Given the description of an element on the screen output the (x, y) to click on. 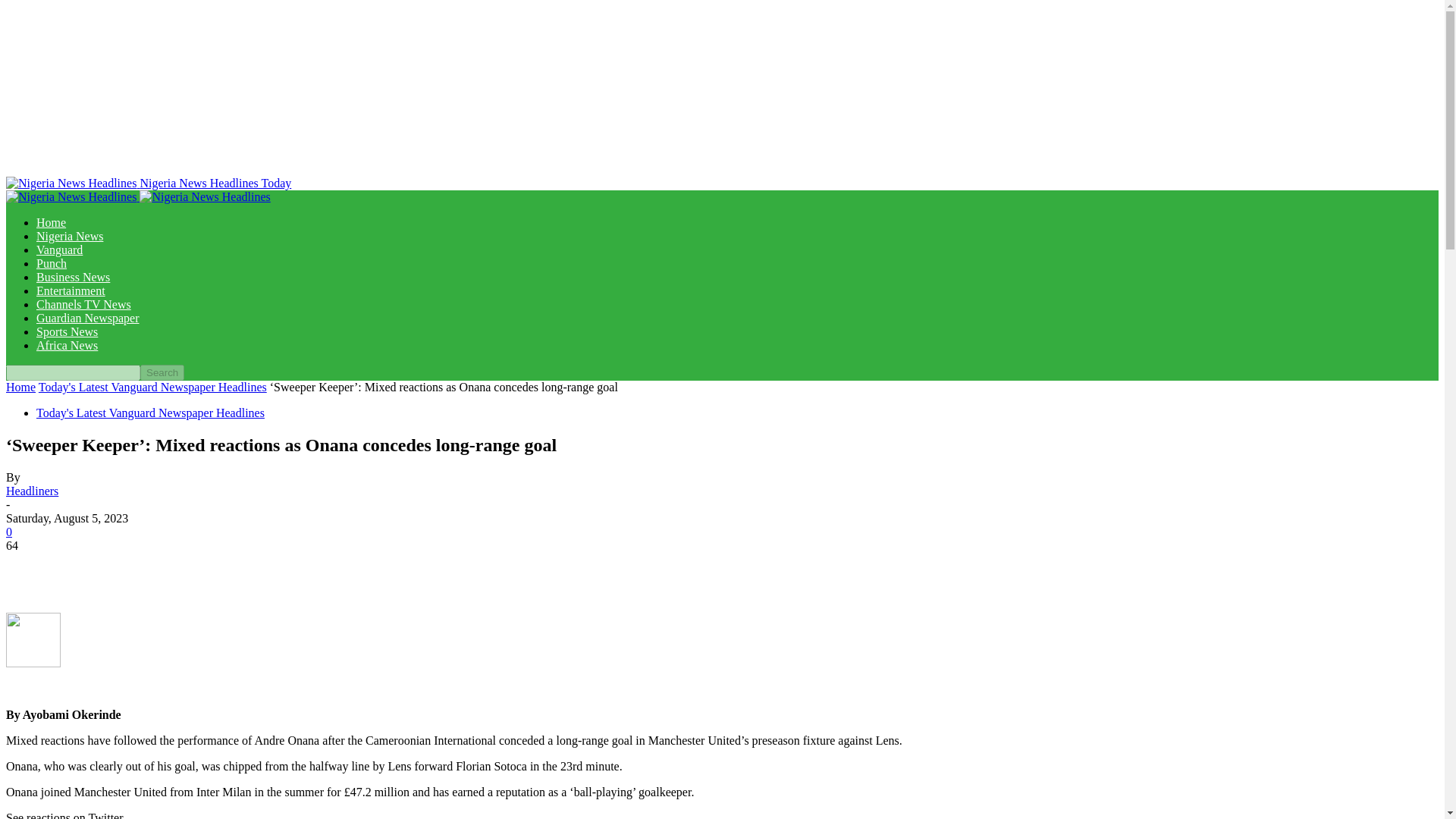
Guardian Newspaper (87, 318)
Business News (73, 277)
Home (50, 222)
Today's Latest Vanguard Newspaper Headlines (152, 386)
Nigeria News Headlines (204, 196)
Channels TV News (83, 304)
Vanguard Newspaper (59, 249)
Nigeria News (69, 236)
Vanguard (59, 249)
Nigeria News Headlines (70, 196)
